Given the description of an element on the screen output the (x, y) to click on. 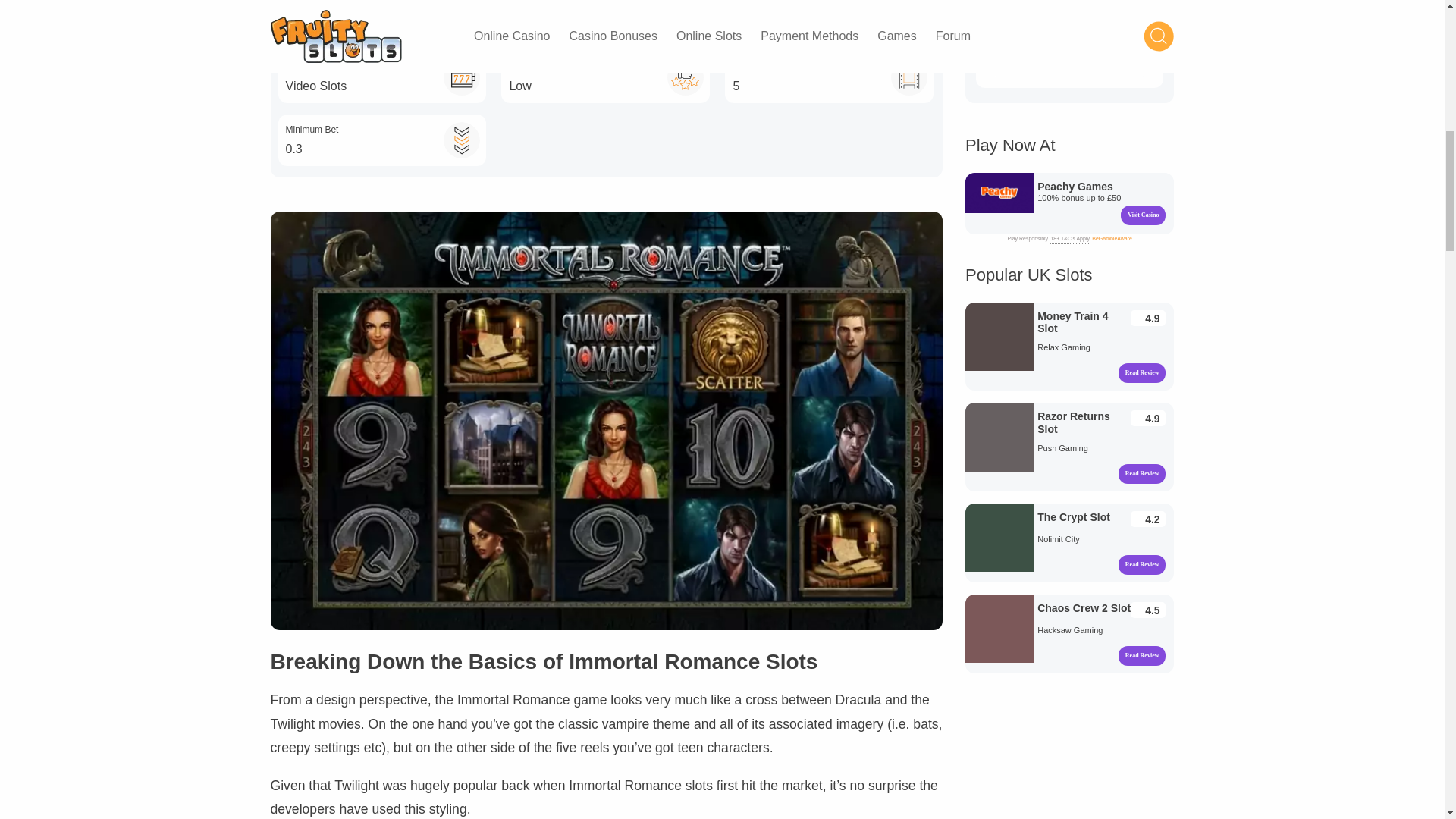
Visit Casino (999, 203)
Visit Casino (1143, 215)
Read Review (999, 346)
BeGambleAware (1112, 237)
Read Review (1142, 373)
